Given the description of an element on the screen output the (x, y) to click on. 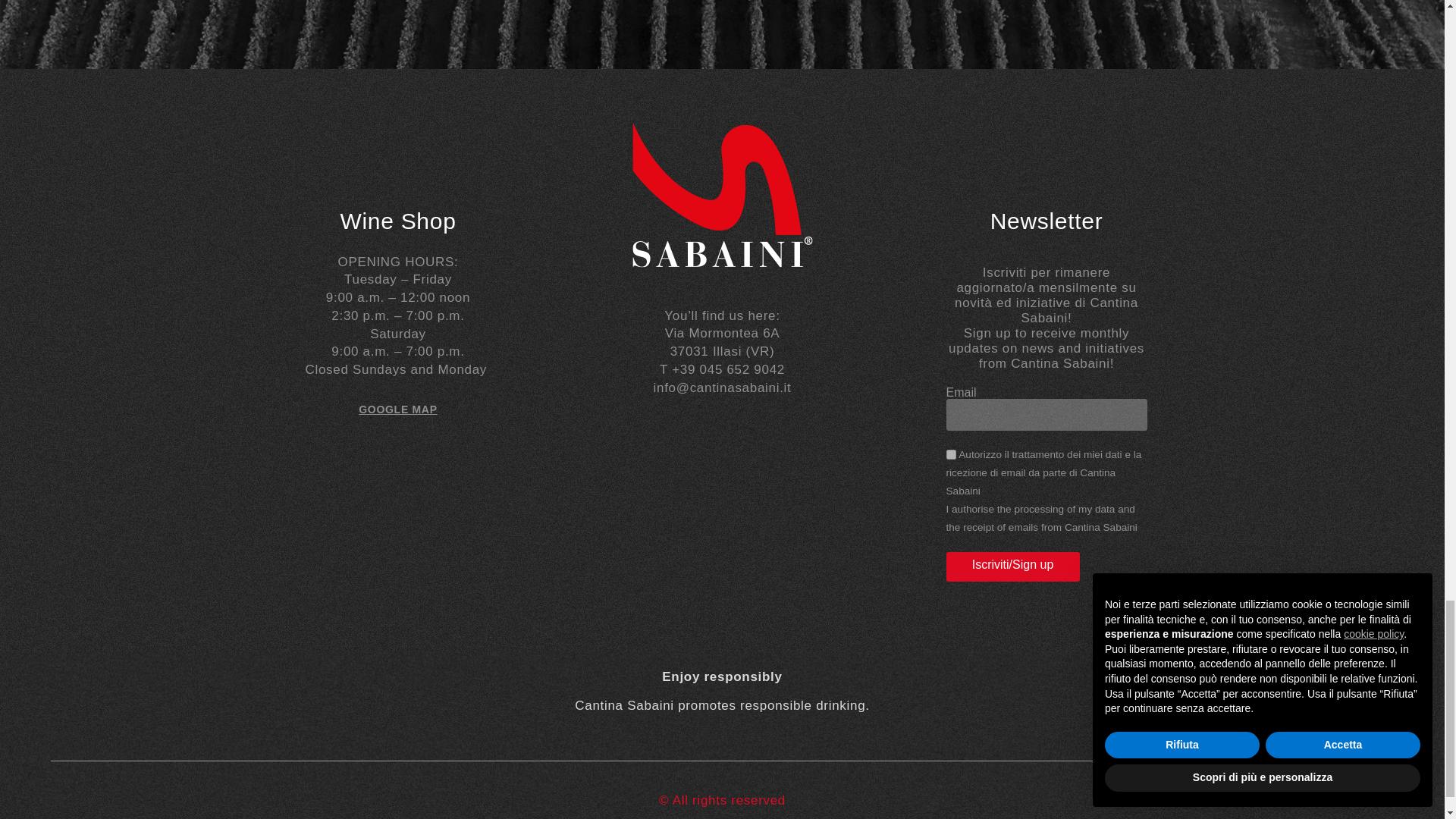
GOOGLE MAP (397, 409)
on (951, 454)
